Given the description of an element on the screen output the (x, y) to click on. 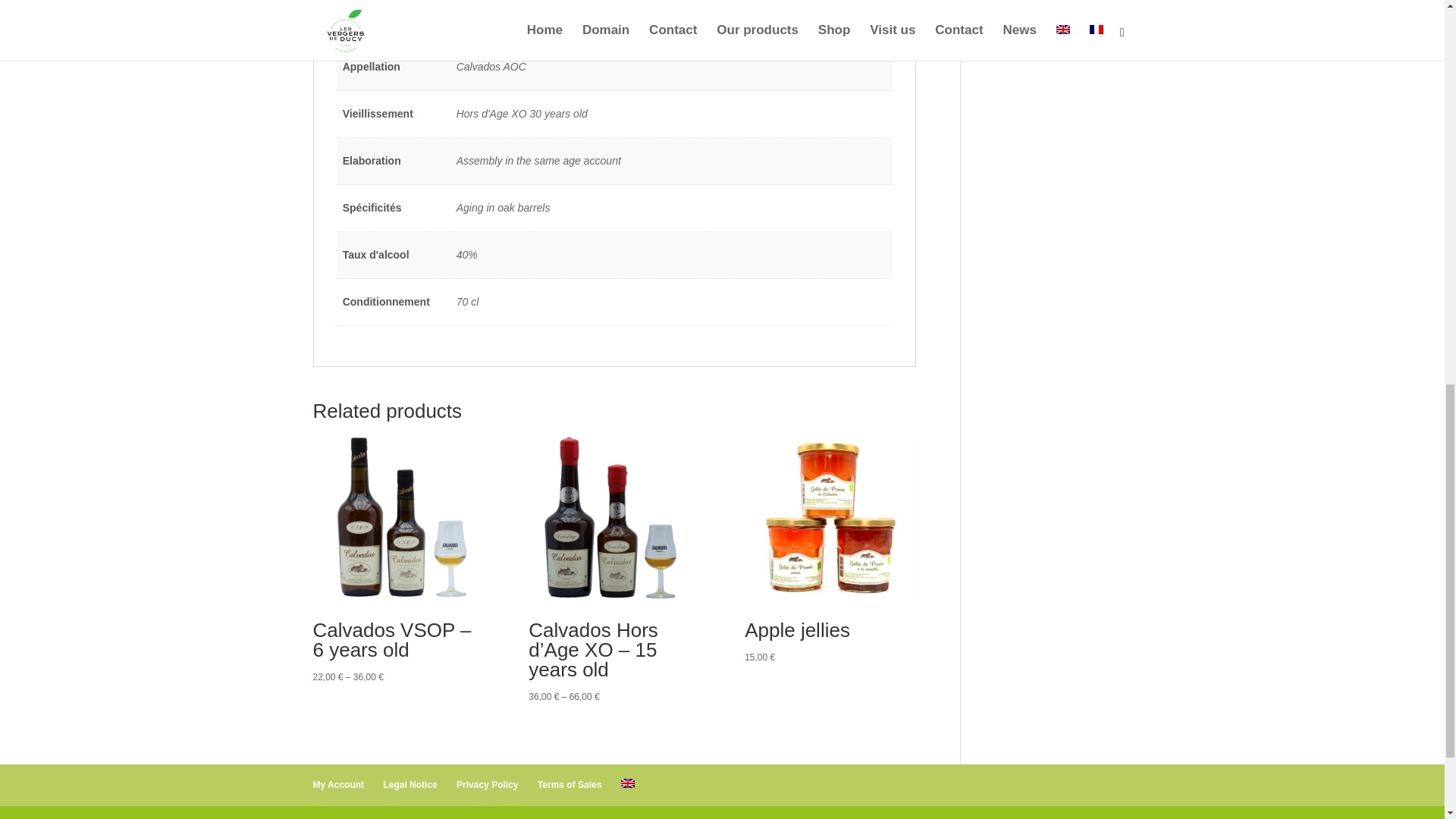
Privacy Policy (487, 784)
My Account (338, 784)
Terms of Sales (569, 784)
Legal Notice (409, 784)
